Given the description of an element on the screen output the (x, y) to click on. 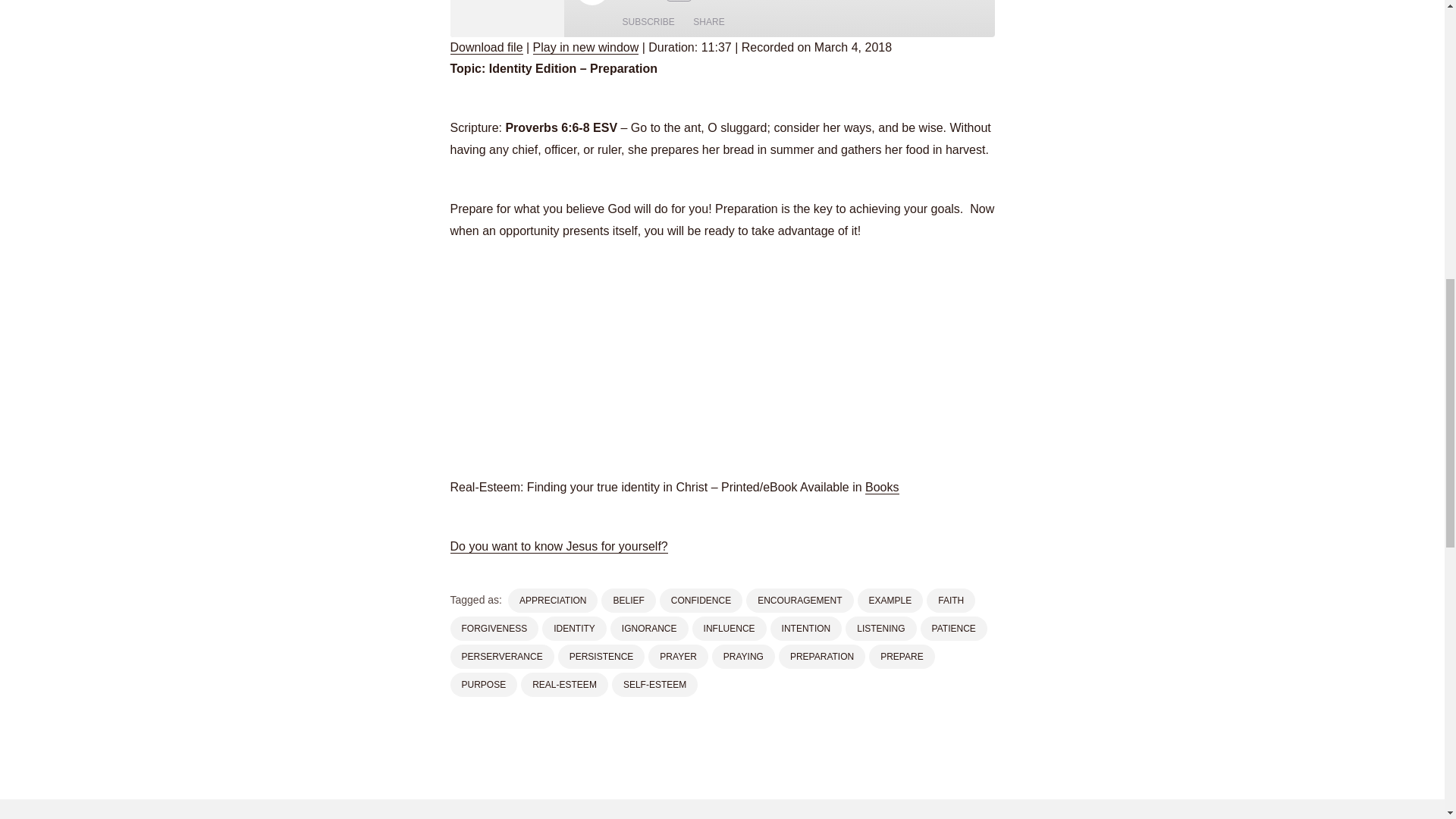
Playback Speed (677, 0)
Identity (506, 18)
Play (591, 2)
Fast Forward 30 seconds (706, 1)
Rewind 10 seconds (650, 1)
Subscribe (647, 20)
Share (708, 20)
